Given the description of an element on the screen output the (x, y) to click on. 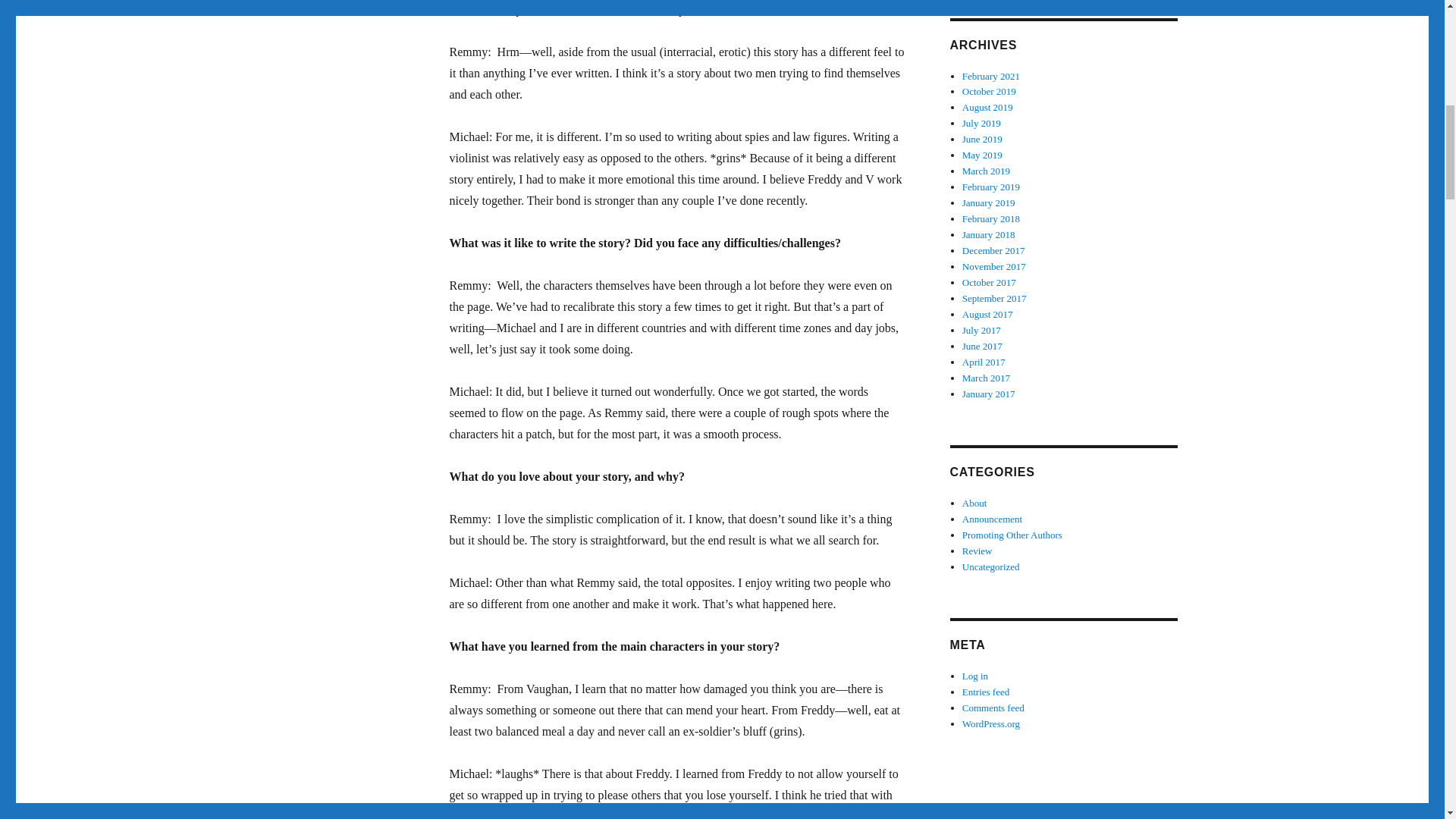
October 2019 (989, 91)
August 2019 (987, 107)
February 2019 (991, 186)
March 2019 (986, 170)
February 2021 (991, 75)
May 2019 (982, 154)
June 2019 (982, 138)
July 2019 (981, 122)
